Given the description of an element on the screen output the (x, y) to click on. 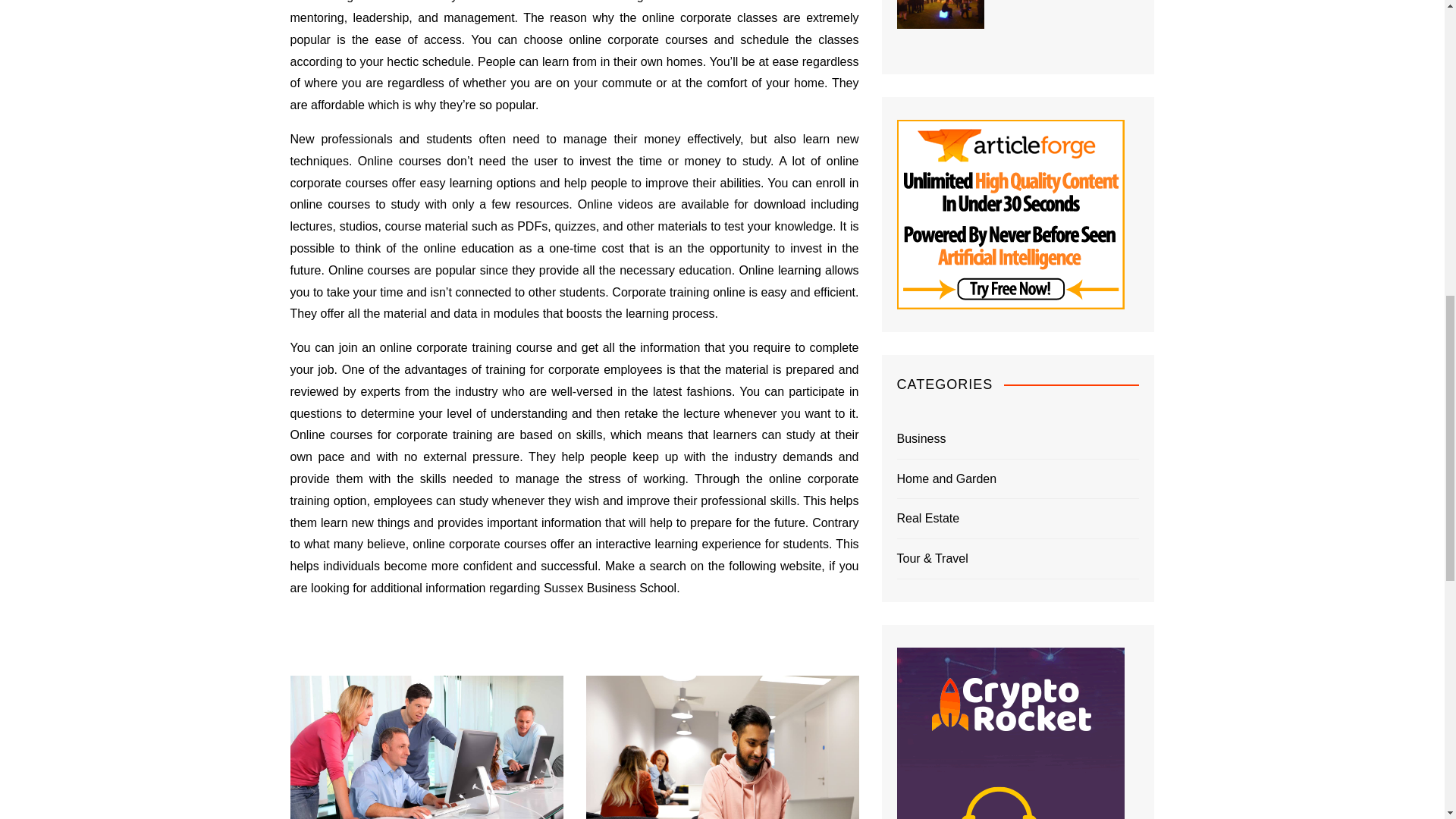
Business (920, 438)
Sussex Business School (610, 587)
